Given the description of an element on the screen output the (x, y) to click on. 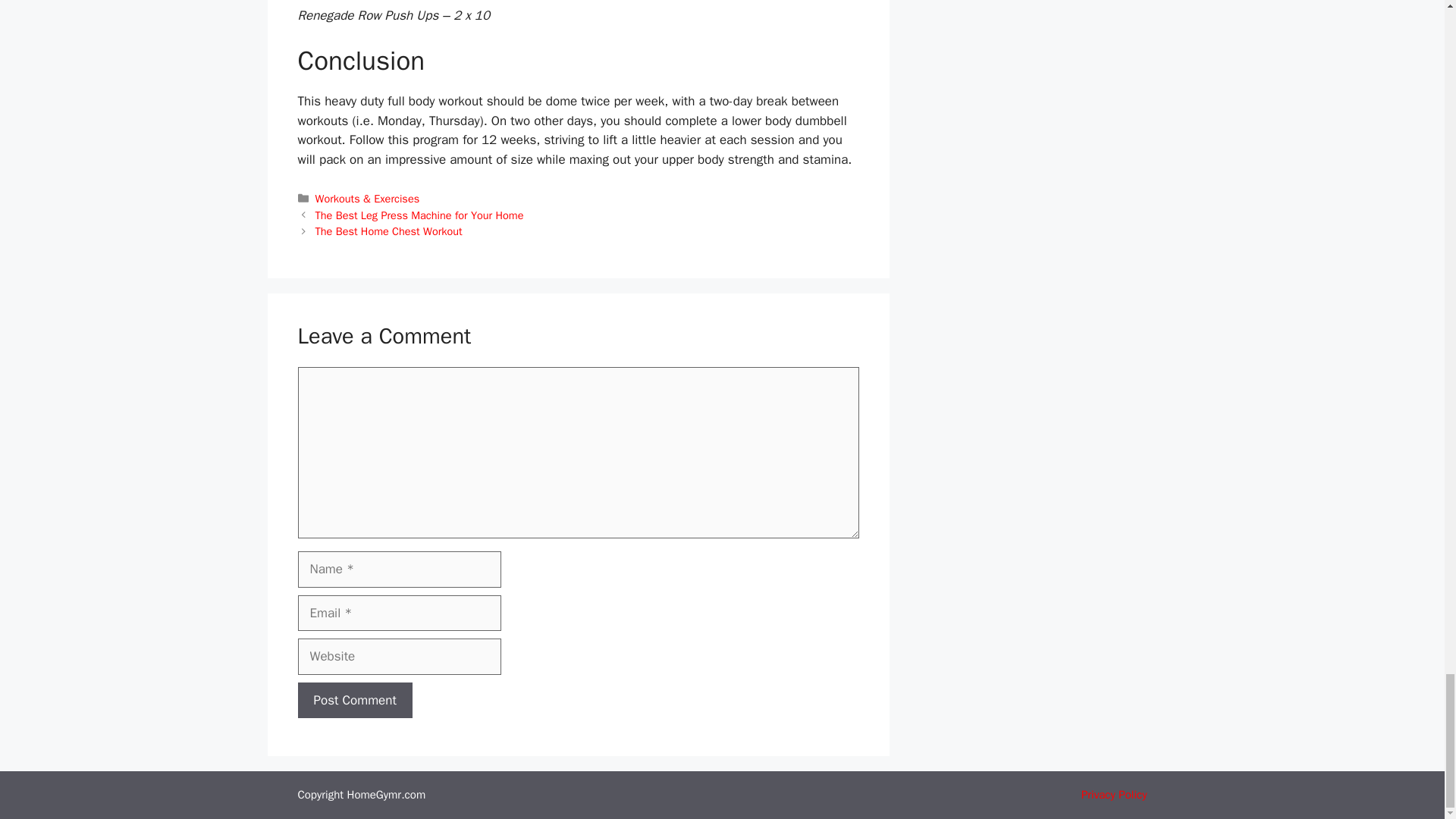
Post Comment (354, 700)
The Best Leg Press Machine for Your Home (419, 214)
Privacy Policy (1114, 794)
The Best Home Chest Workout (389, 231)
Post Comment (354, 700)
